Given the description of an element on the screen output the (x, y) to click on. 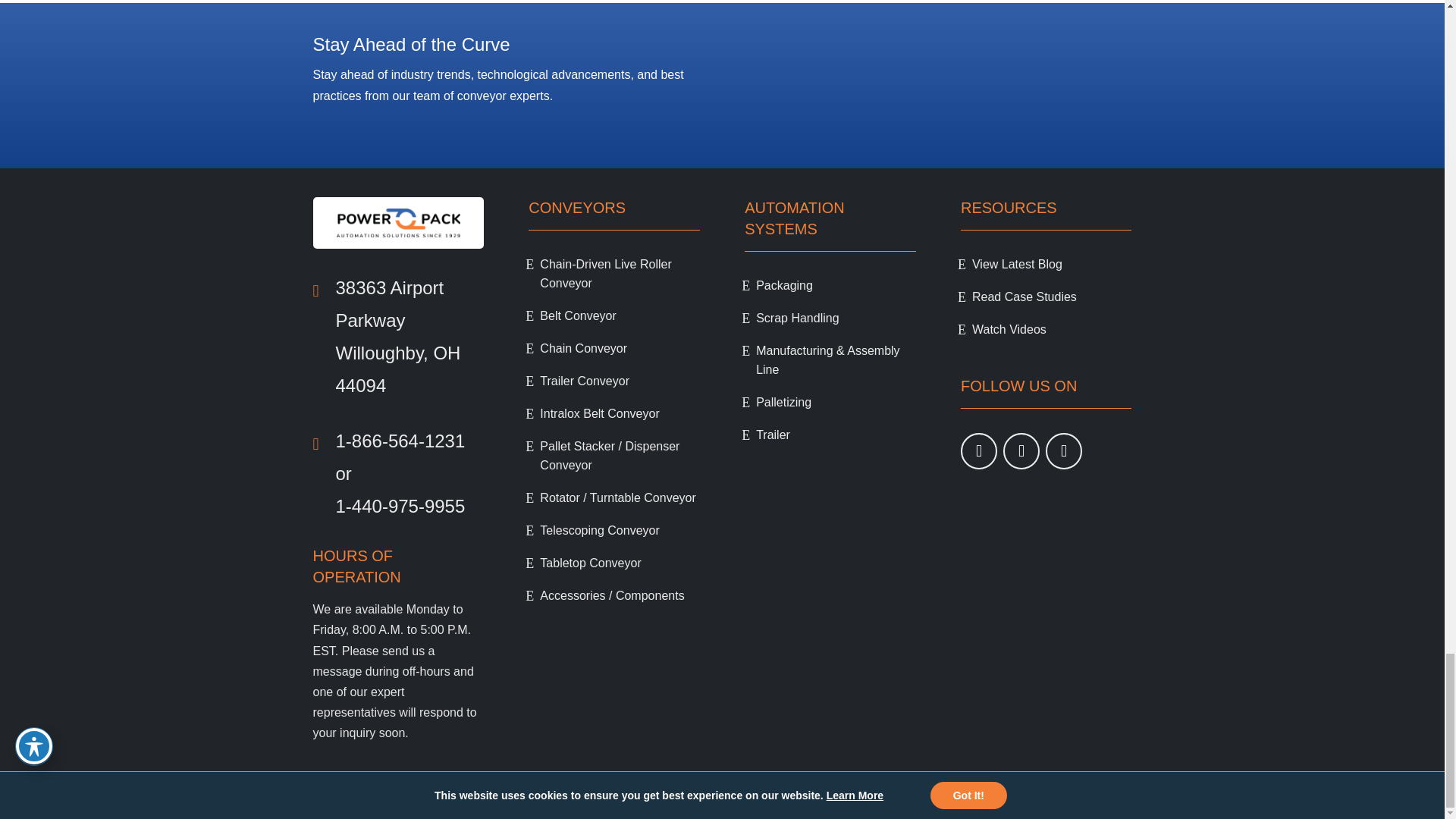
Form 0 (937, 89)
Follow on Facebook (1021, 451)
Follow on LinkedIn (1063, 451)
Follow on Youtube (978, 451)
